Given the description of an element on the screen output the (x, y) to click on. 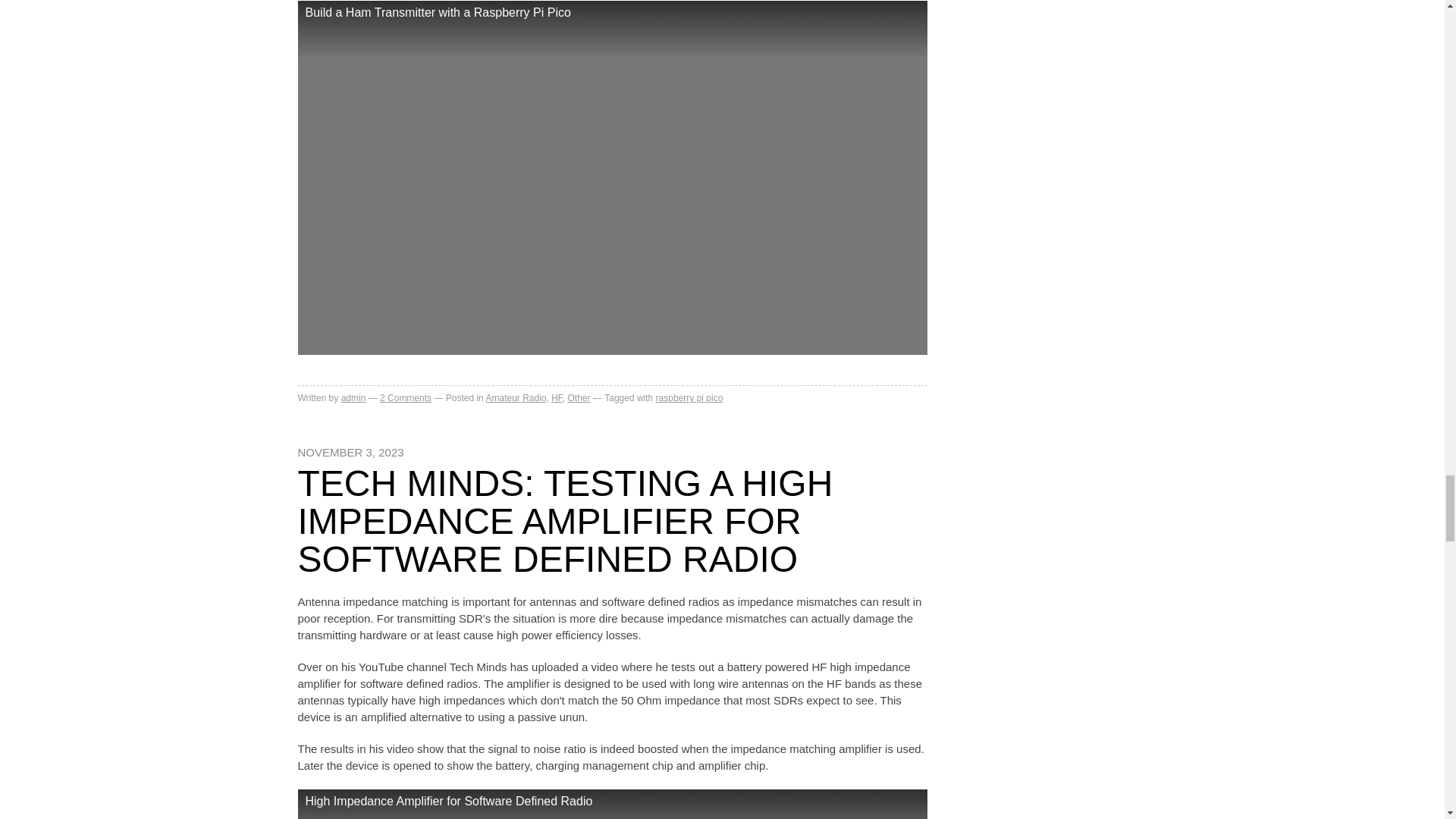
High Impedance Amplifier for Software Defined Radio (611, 804)
Posts by admin (353, 398)
